Given the description of an element on the screen output the (x, y) to click on. 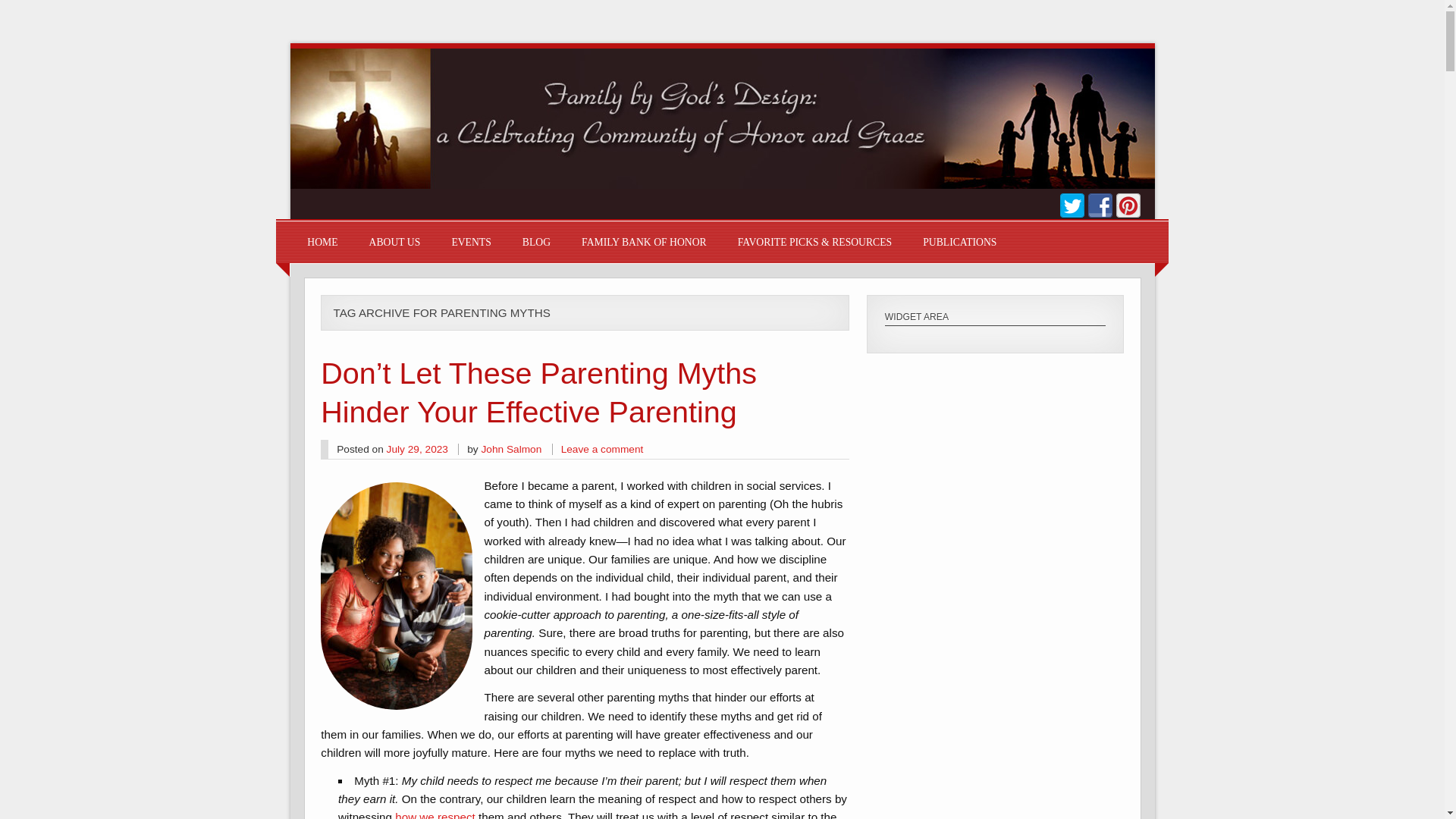
July 29, 2023 (417, 449)
EVENTS (470, 241)
how we respect (435, 814)
FAMILY BANK OF HONOR (643, 241)
ABOUT US (394, 241)
Leave a comment (601, 449)
PUBLICATIONS (959, 241)
8:00 pm (417, 449)
John Salmon (511, 449)
Family by God's Design (721, 184)
View all posts by John Salmon (511, 449)
